Given the description of an element on the screen output the (x, y) to click on. 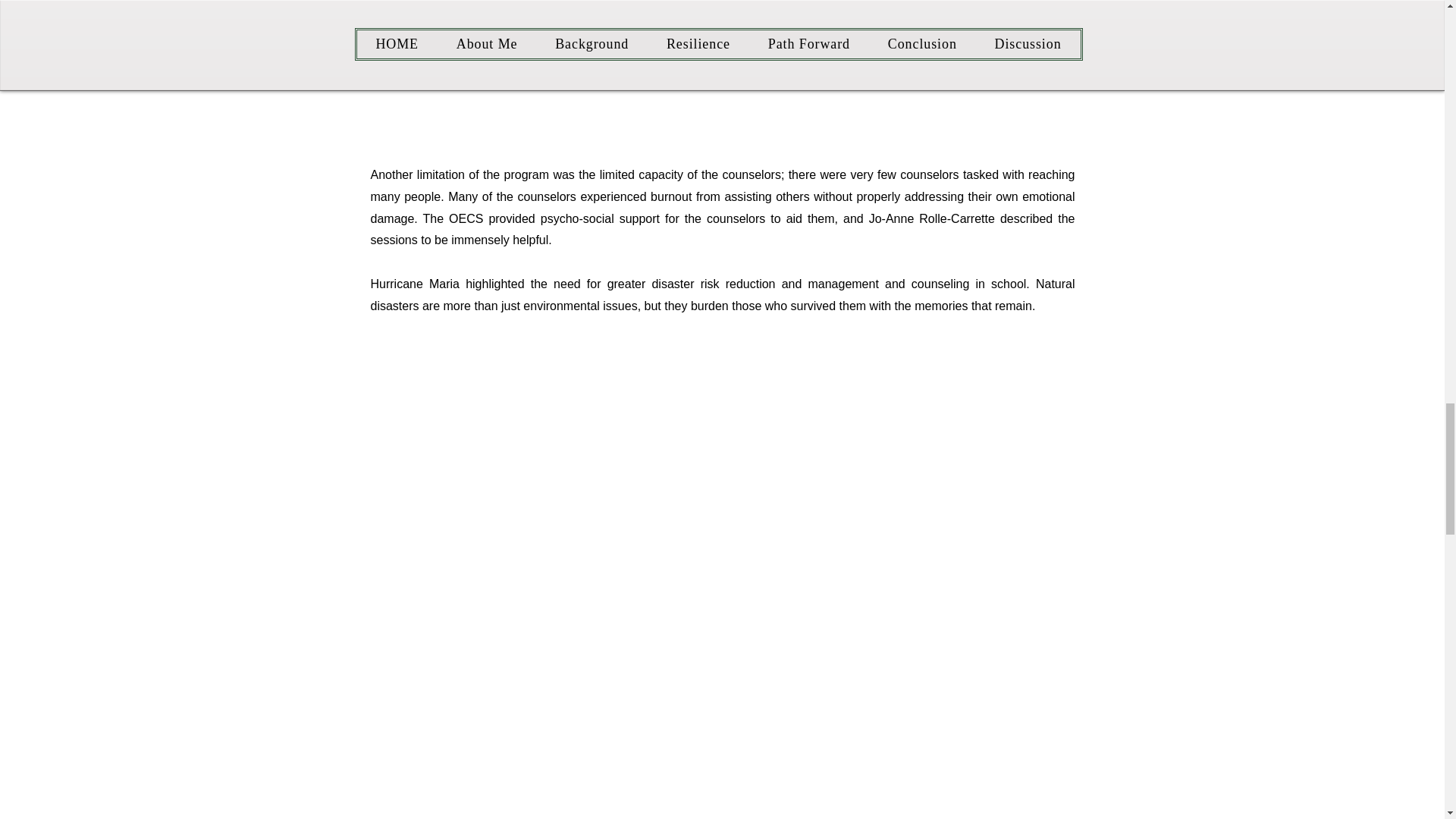
Screenshot 2023-04-12 192412.png (548, 66)
